Given the description of an element on the screen output the (x, y) to click on. 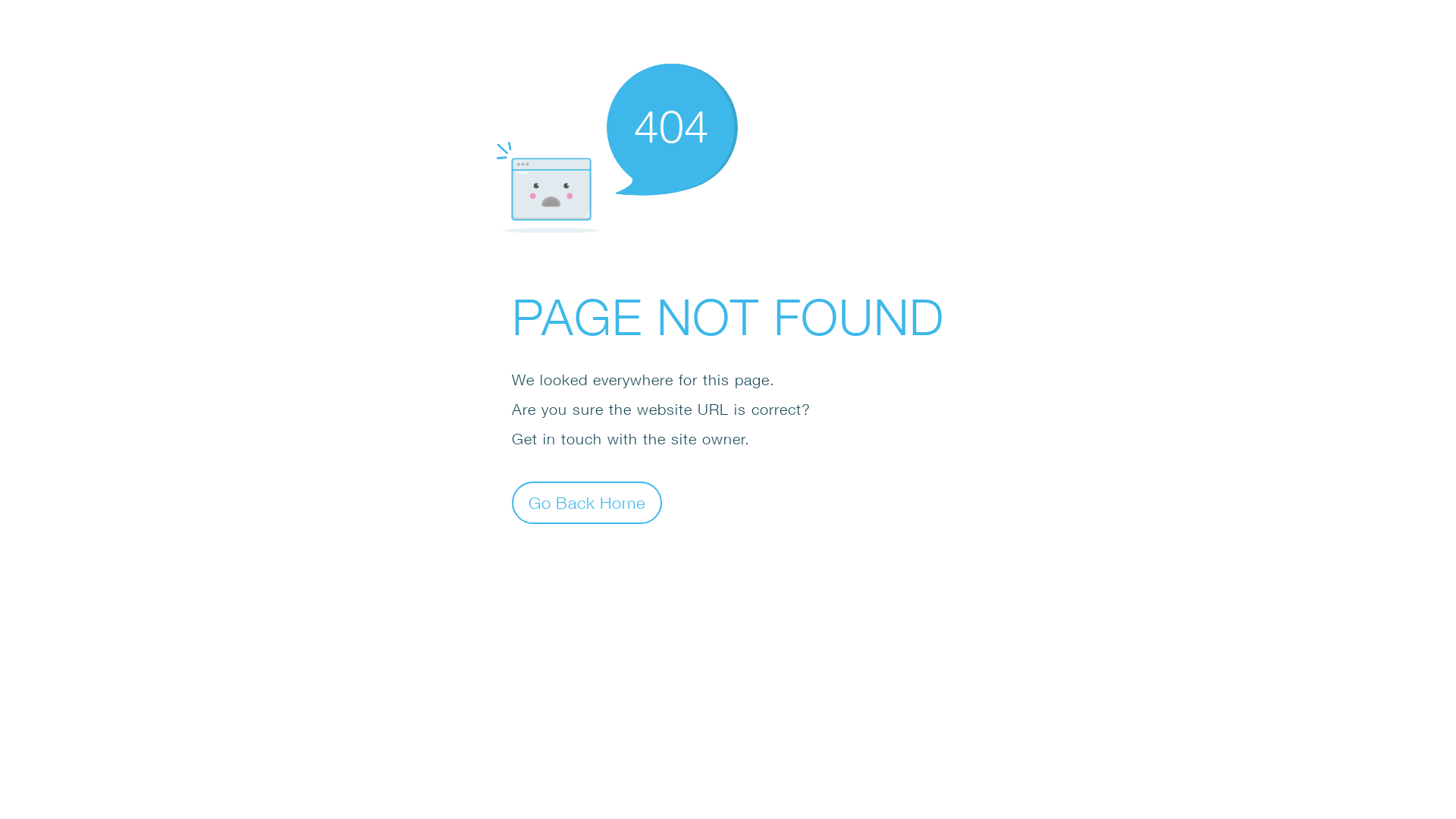
Go Back Home Element type: text (586, 502)
